Given the description of an element on the screen output the (x, y) to click on. 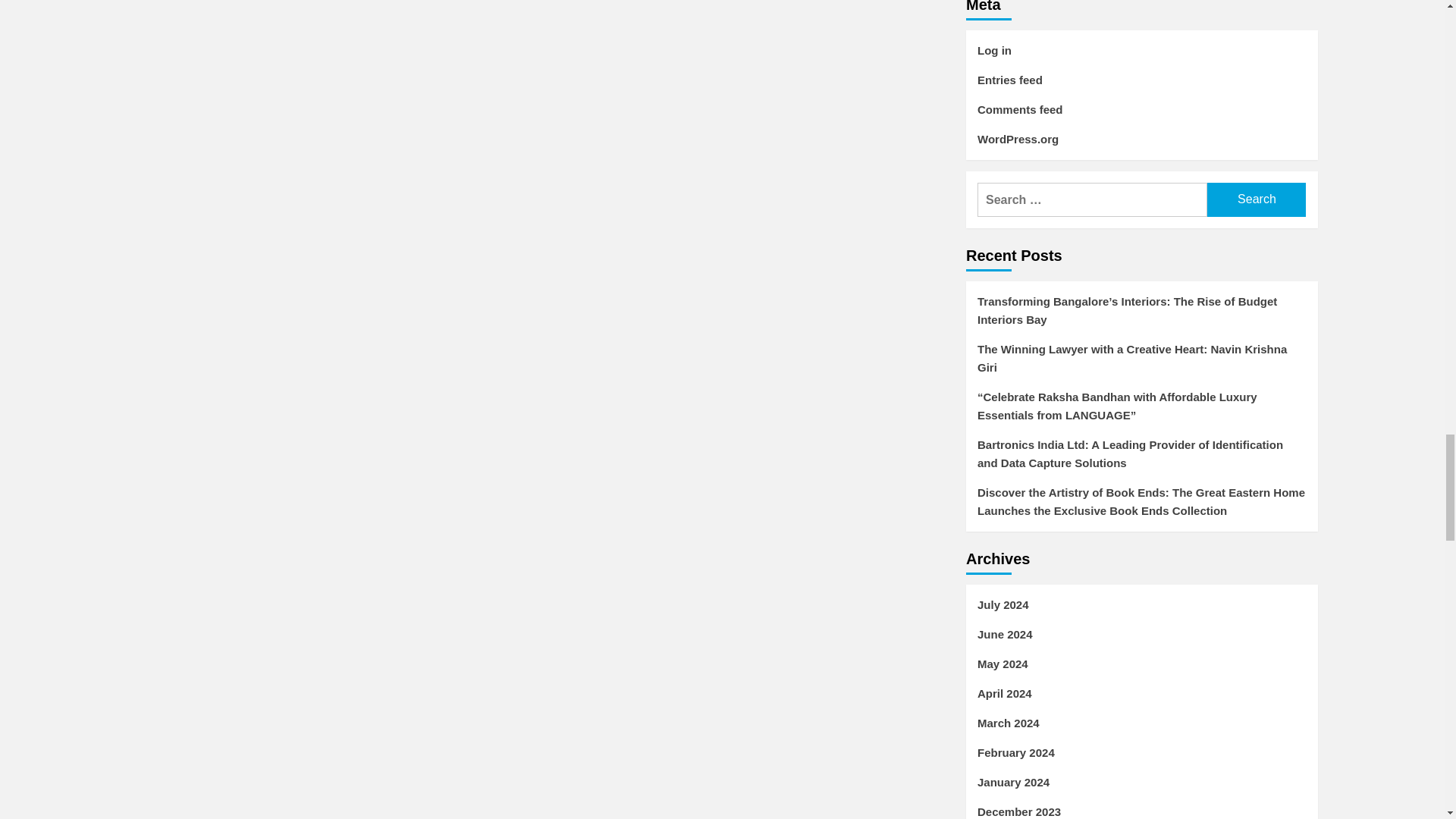
Search (1256, 199)
Search (1256, 199)
